Given the description of an element on the screen output the (x, y) to click on. 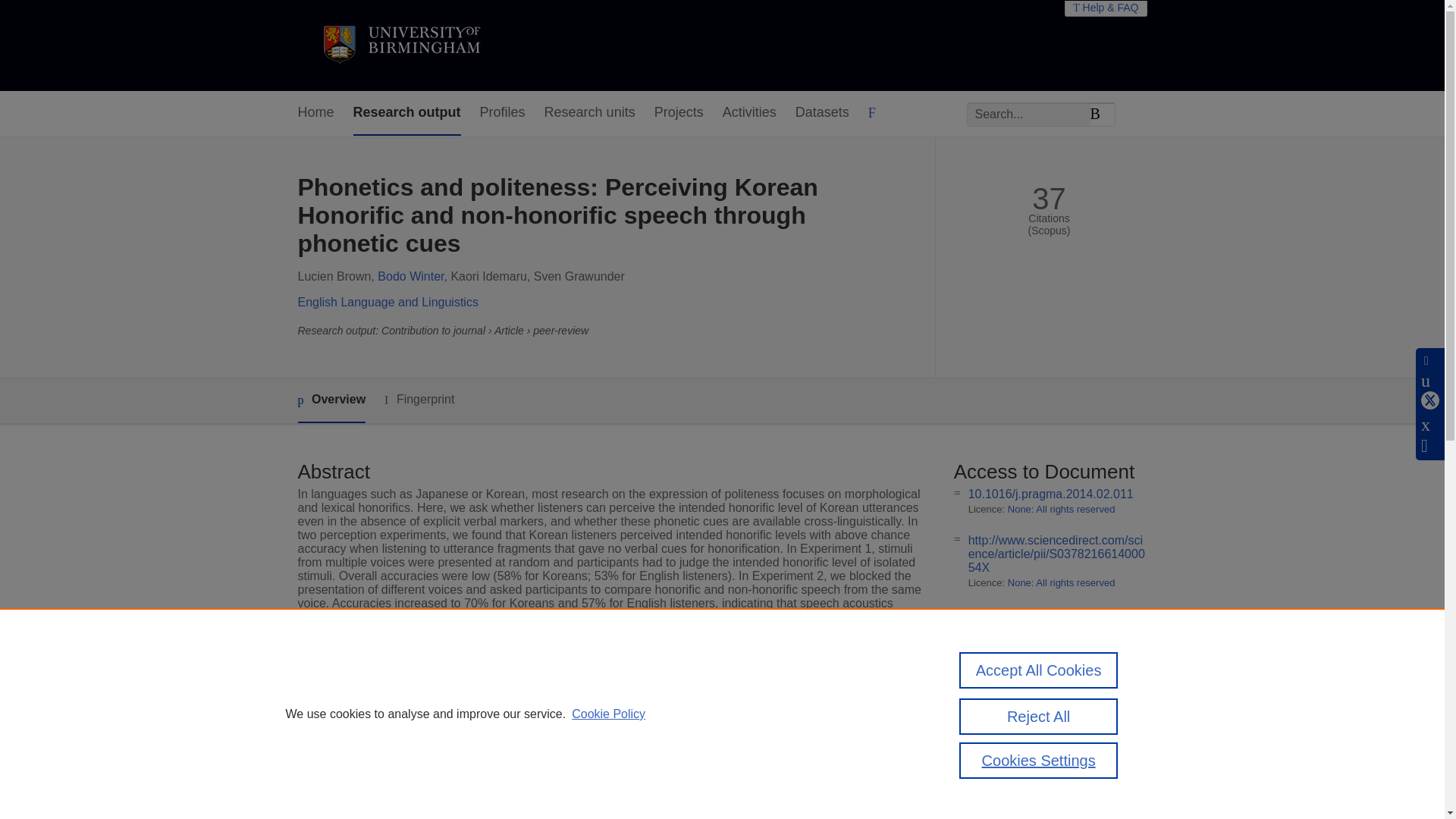
Profiles (502, 112)
English Language and Linguistics (387, 301)
Activities (749, 112)
None: All rights reserved (1061, 509)
Fingerprint (419, 399)
University of Birmingham Home (401, 45)
Datasets (821, 112)
Bodo Winter (410, 276)
Research output (407, 112)
None: All rights reserved (1061, 582)
Overview (331, 400)
Research units (589, 112)
Projects (678, 112)
Journal of Pragmatics (568, 744)
